Given the description of an element on the screen output the (x, y) to click on. 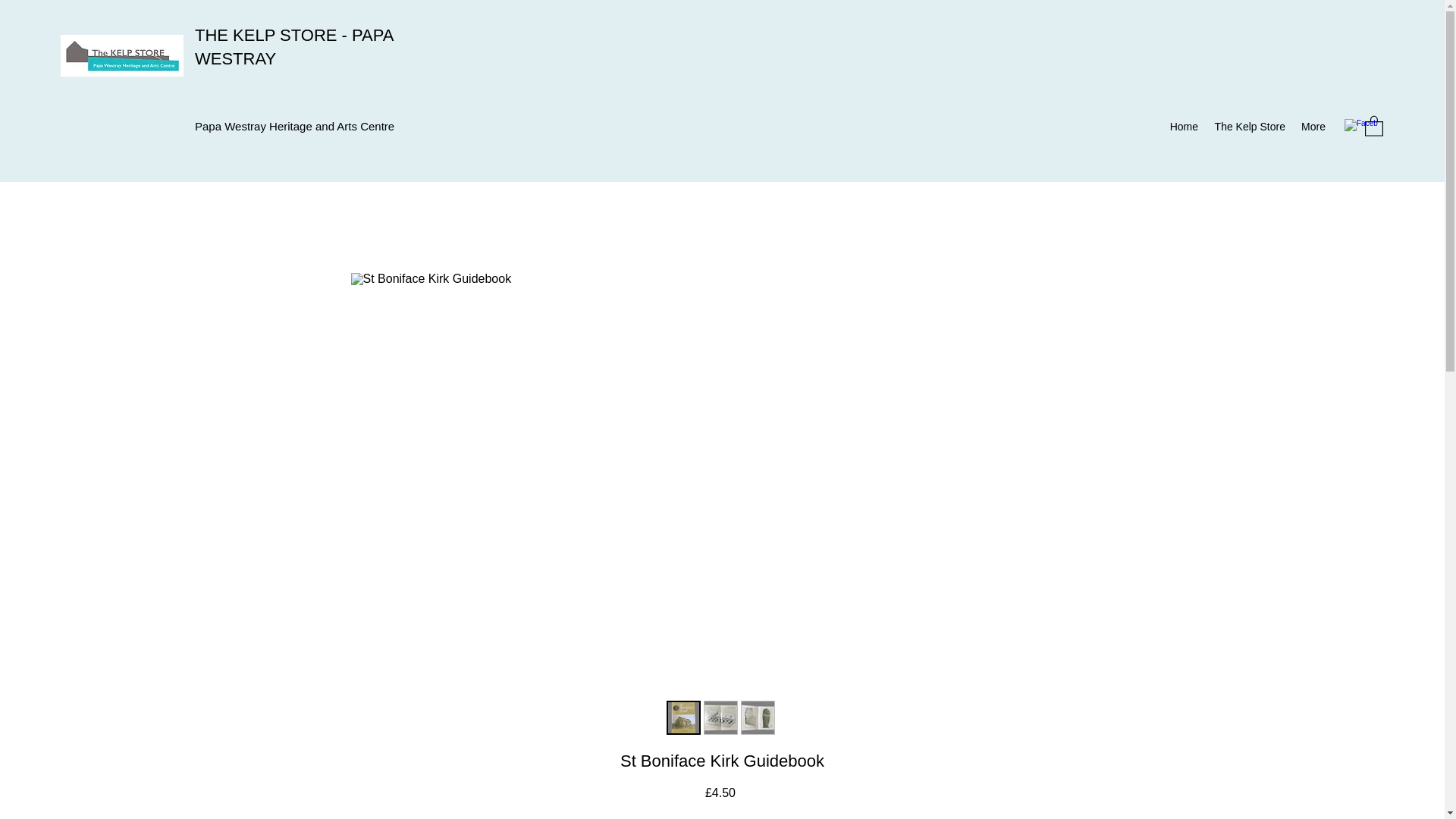
THE KELP STORE - PAPA WESTRAY (294, 46)
The Kelp Store (1248, 126)
Home (1183, 126)
